Given the description of an element on the screen output the (x, y) to click on. 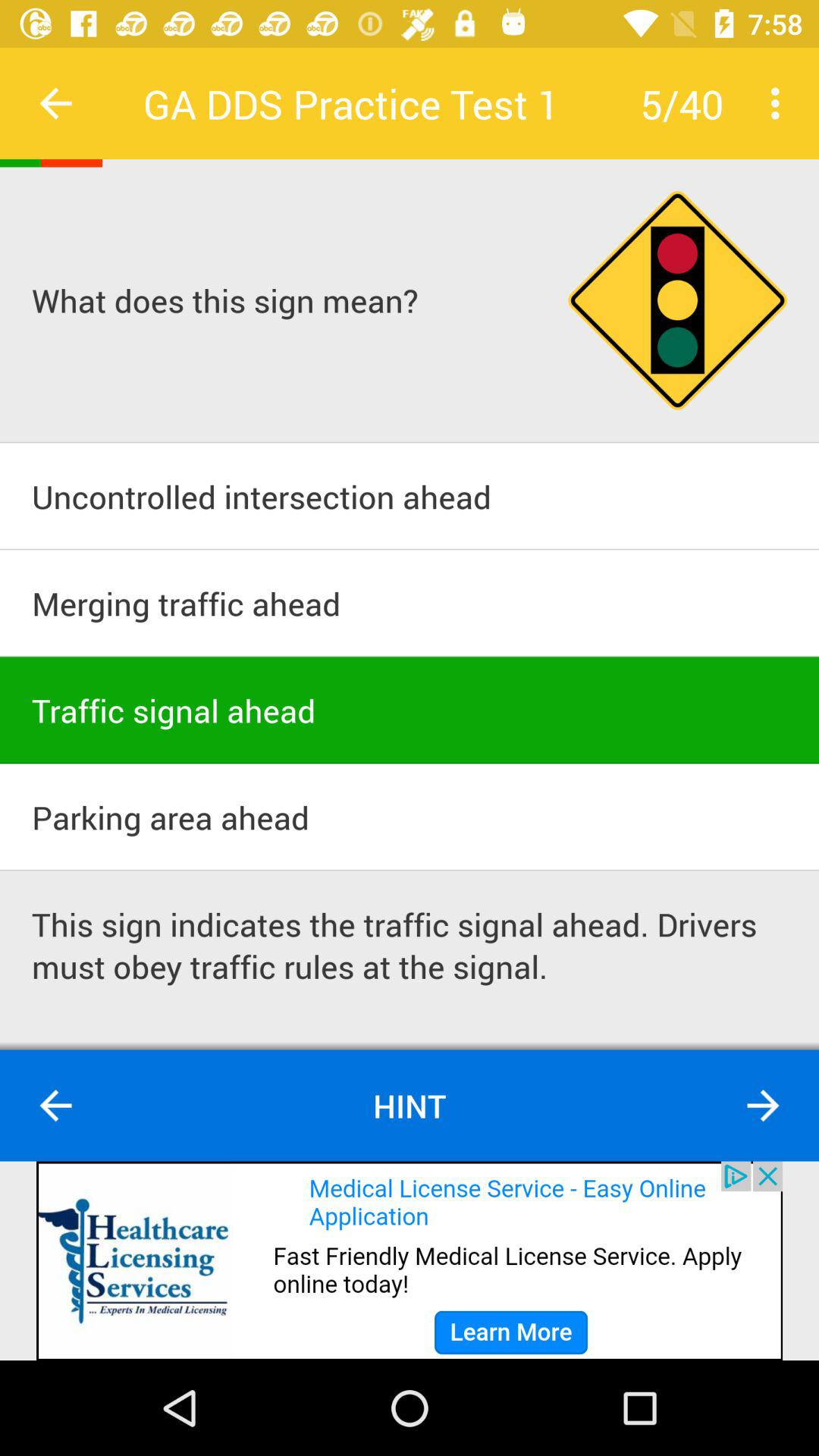
advertisements about healthcare licensing services (409, 1260)
